Given the description of an element on the screen output the (x, y) to click on. 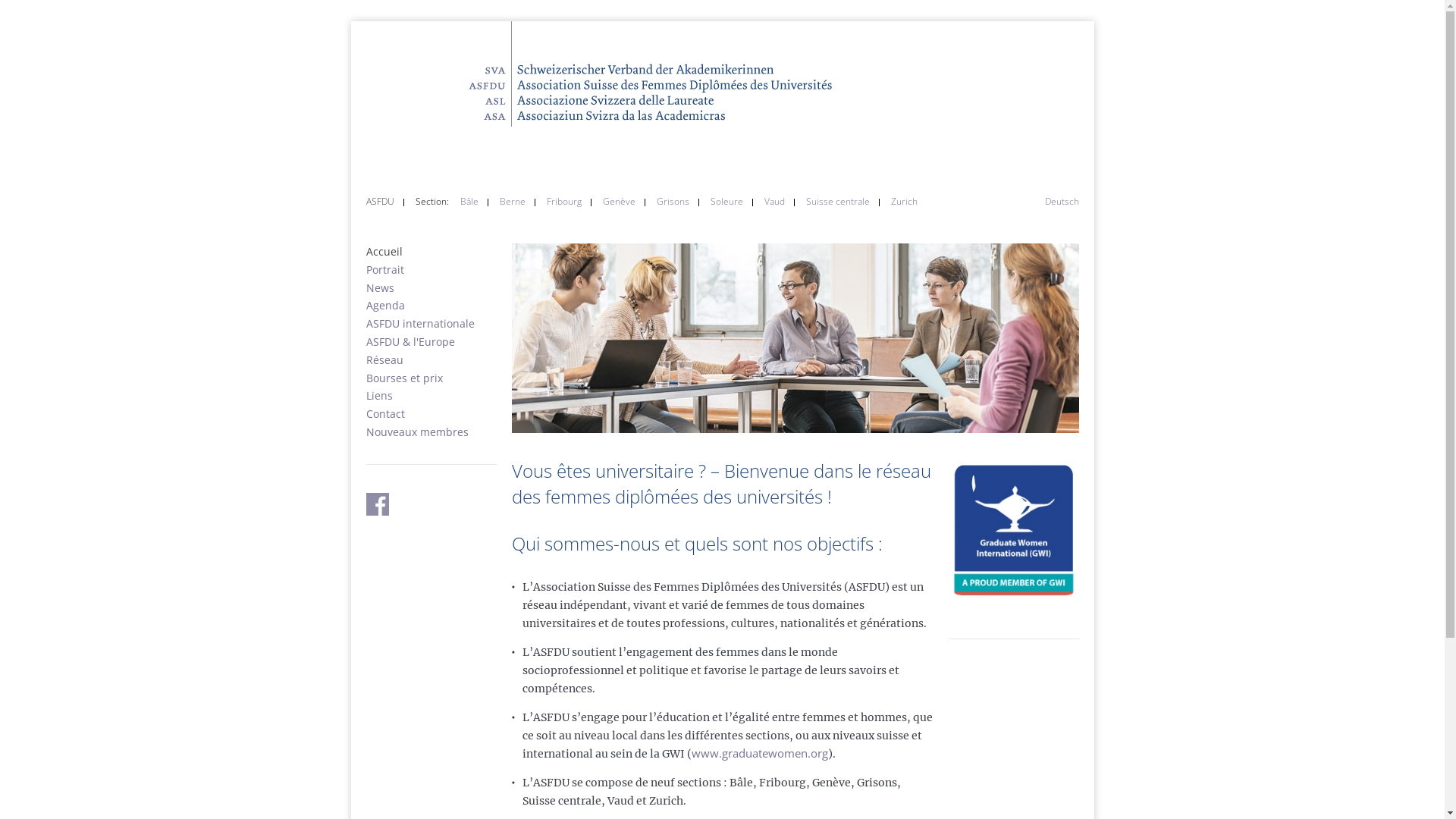
Soleure Element type: text (725, 200)
Zurich Element type: text (903, 200)
Agenda Element type: text (384, 305)
ASFDU & l'Europe Element type: text (409, 341)
Vaud Element type: text (774, 200)
ASFDU Element type: text (379, 200)
Fribourg Element type: text (563, 200)
ASFDU internationale Element type: text (419, 323)
Grisons Element type: text (672, 200)
Bourses et prix Element type: text (403, 377)
Nouveaux membres Element type: text (416, 431)
Liens Element type: text (378, 395)
Portrait Element type: text (384, 269)
www.graduatewomen.org Element type: text (759, 752)
Deutsch Element type: text (1061, 200)
Accueil Element type: text (383, 251)
Contact Element type: text (384, 413)
Suisse centrale Element type: text (837, 200)
Berne Element type: text (511, 200)
News Element type: text (379, 287)
